Given the description of an element on the screen output the (x, y) to click on. 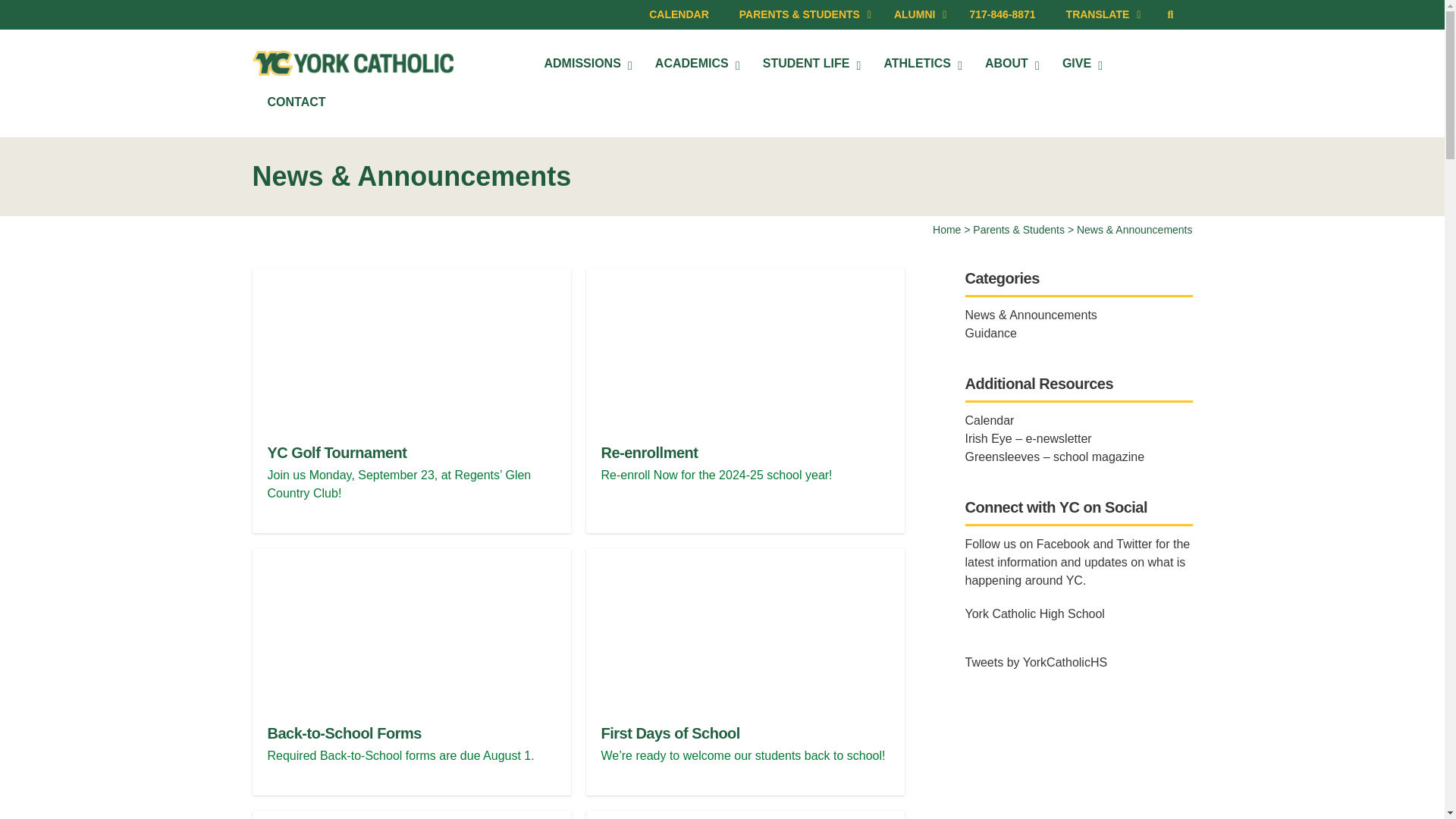
ALUMNI (916, 14)
717-846-8871 (1001, 14)
CALENDAR (678, 14)
ADMISSIONS (584, 64)
